Given the description of an element on the screen output the (x, y) to click on. 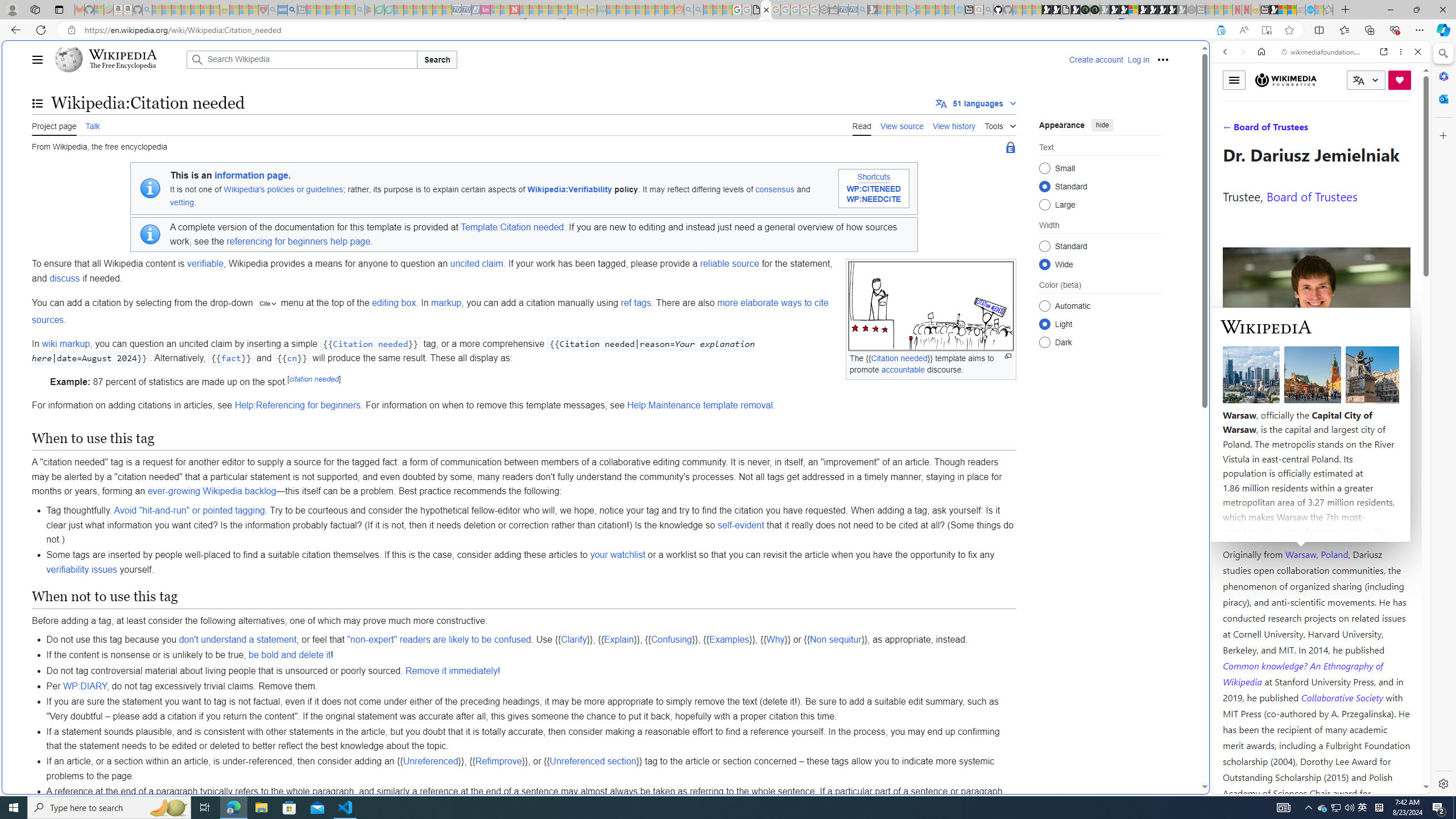
Wikimedia Foundation (1285, 79)
verifiability issues (81, 569)
Collaborative Society  (1343, 697)
ref tags (635, 302)
Create account (1095, 58)
Clarify (573, 639)
